Given the description of an element on the screen output the (x, y) to click on. 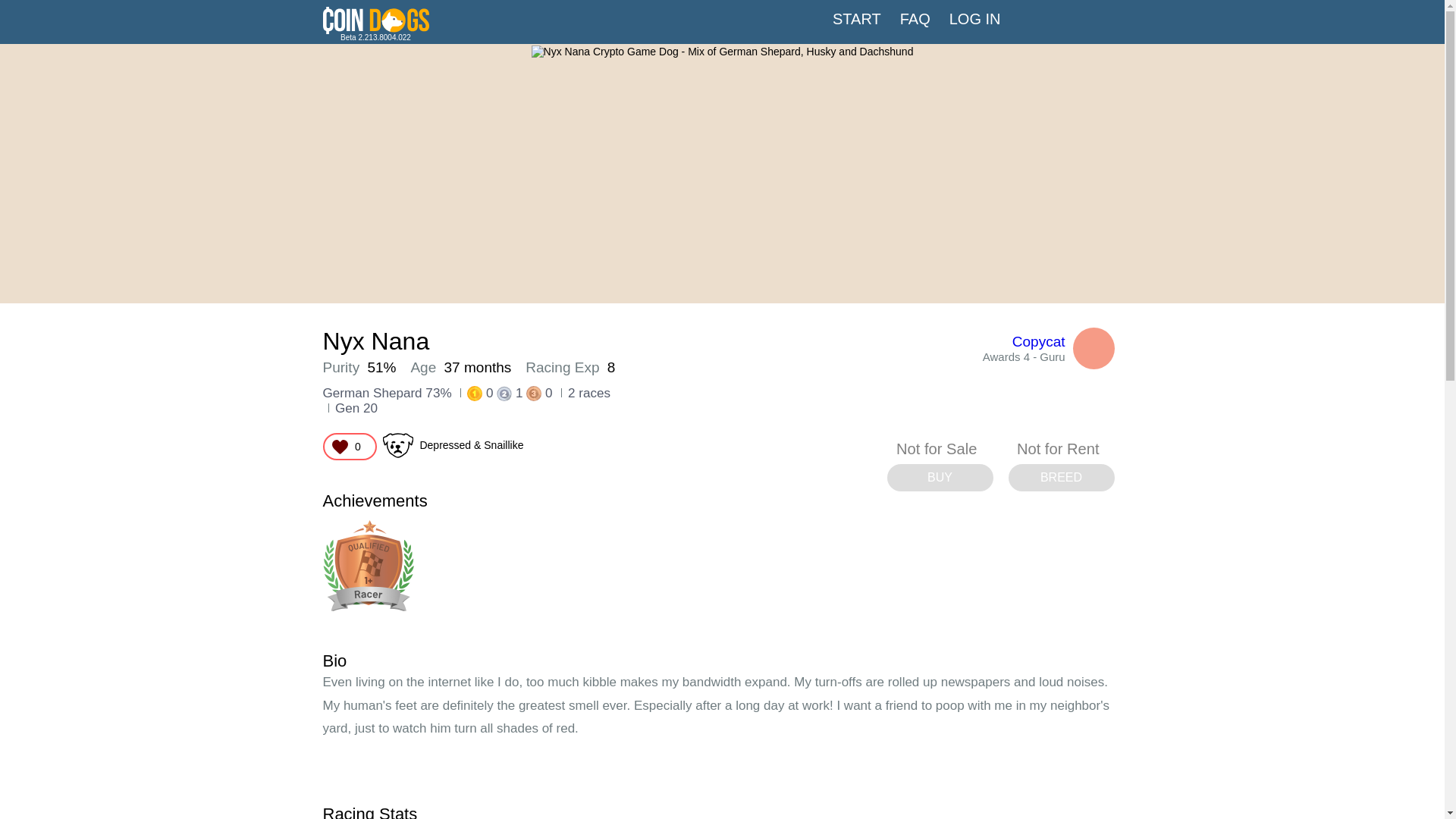
FAQ (914, 18)
LOG IN (975, 18)
BUY (939, 477)
BREED (1062, 477)
START (856, 18)
Beta 2.213.8004.022 (376, 30)
0 (350, 446)
